Given the description of an element on the screen output the (x, y) to click on. 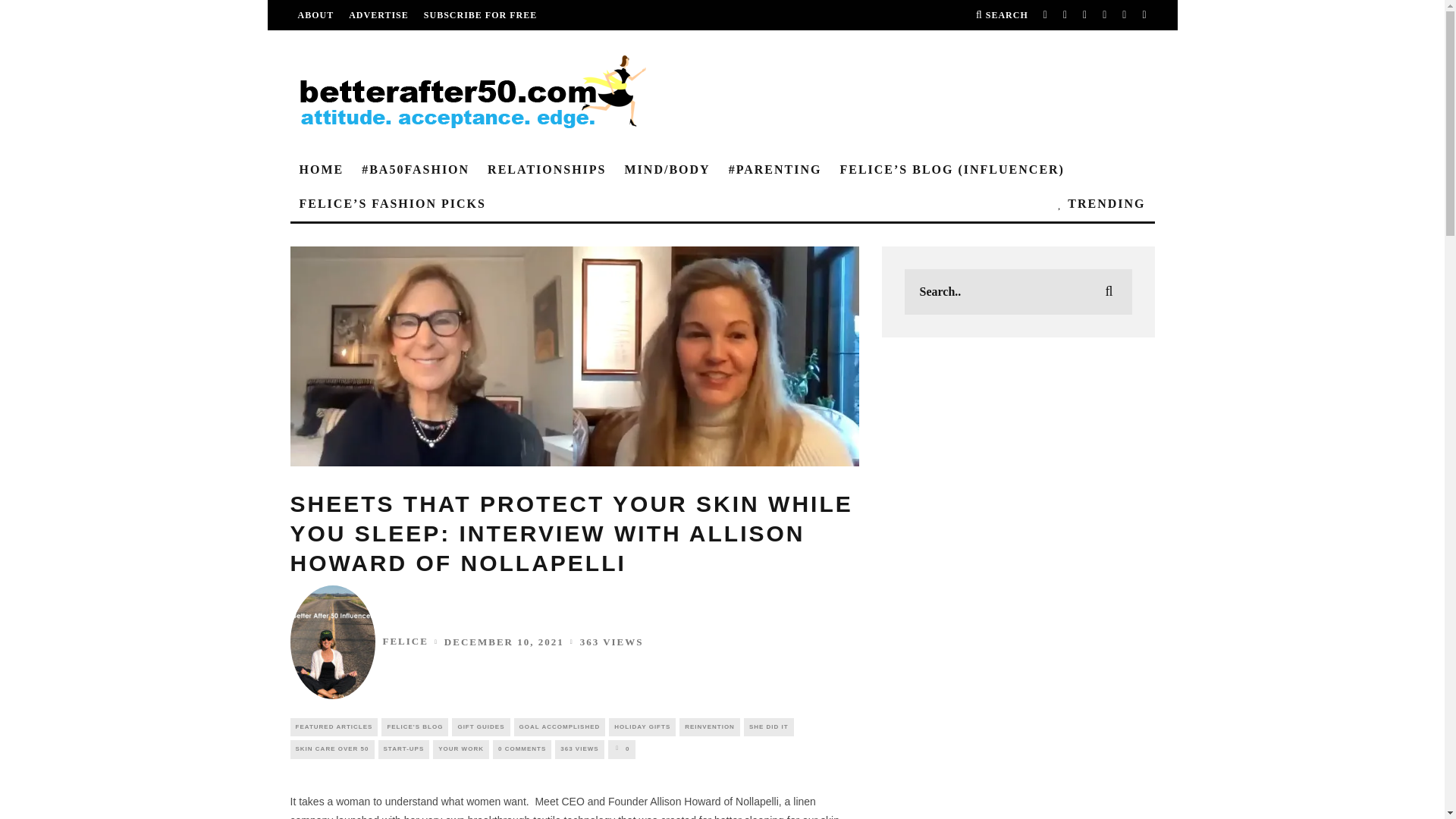
View all posts in Start-Ups (403, 749)
ABOUT (315, 15)
View all posts in Holiday Gifts (641, 727)
View all posts in Skin Care Over 50 (331, 749)
ADVERTISE (379, 15)
View all posts in Featured Articles (333, 727)
View all posts in Gift Guides (480, 727)
RELATIONSHIPS (546, 170)
View all posts in Reinvention (709, 727)
HOME (320, 170)
